Given the description of an element on the screen output the (x, y) to click on. 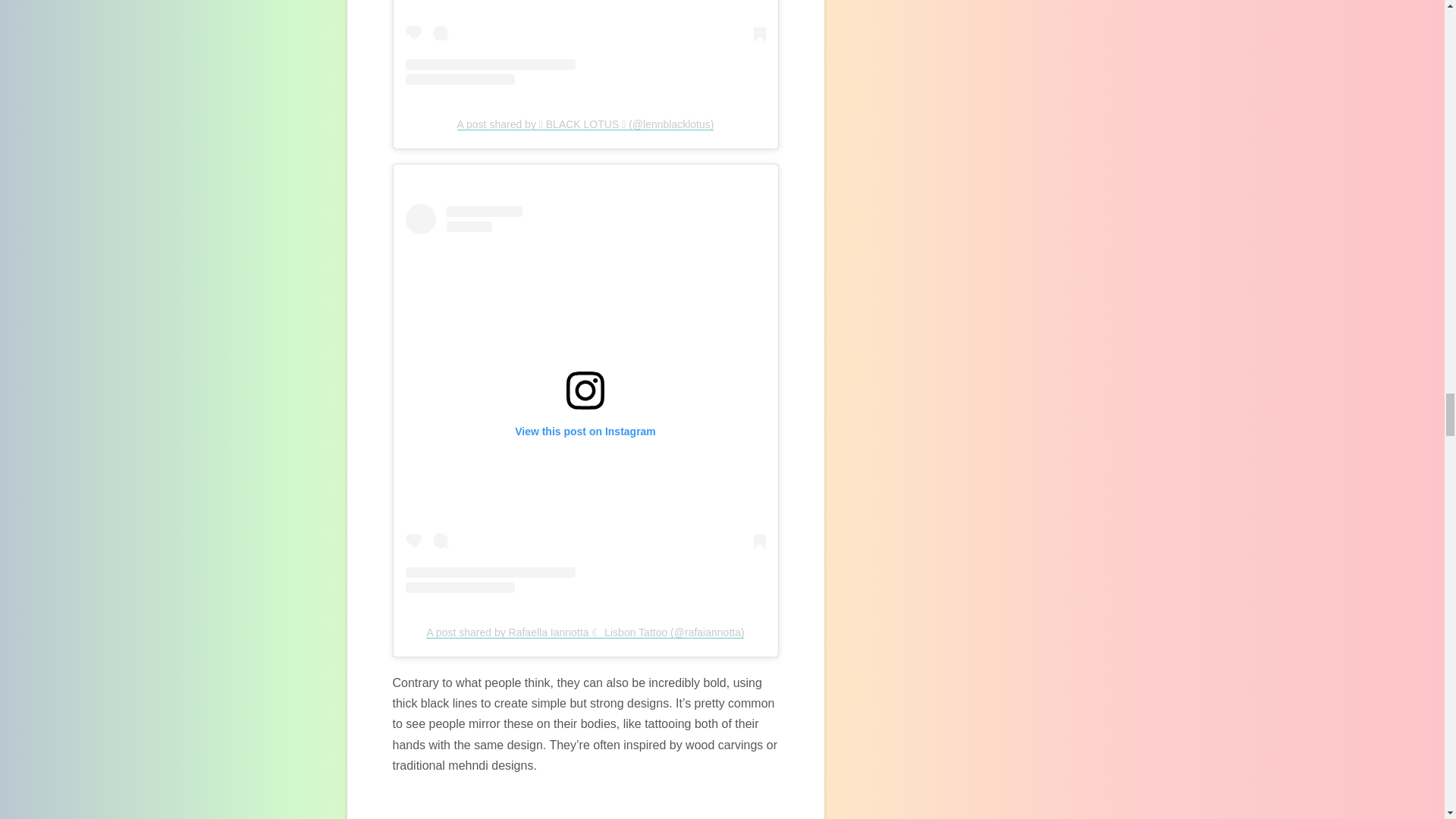
View this post on Instagram (584, 42)
